Given the description of an element on the screen output the (x, y) to click on. 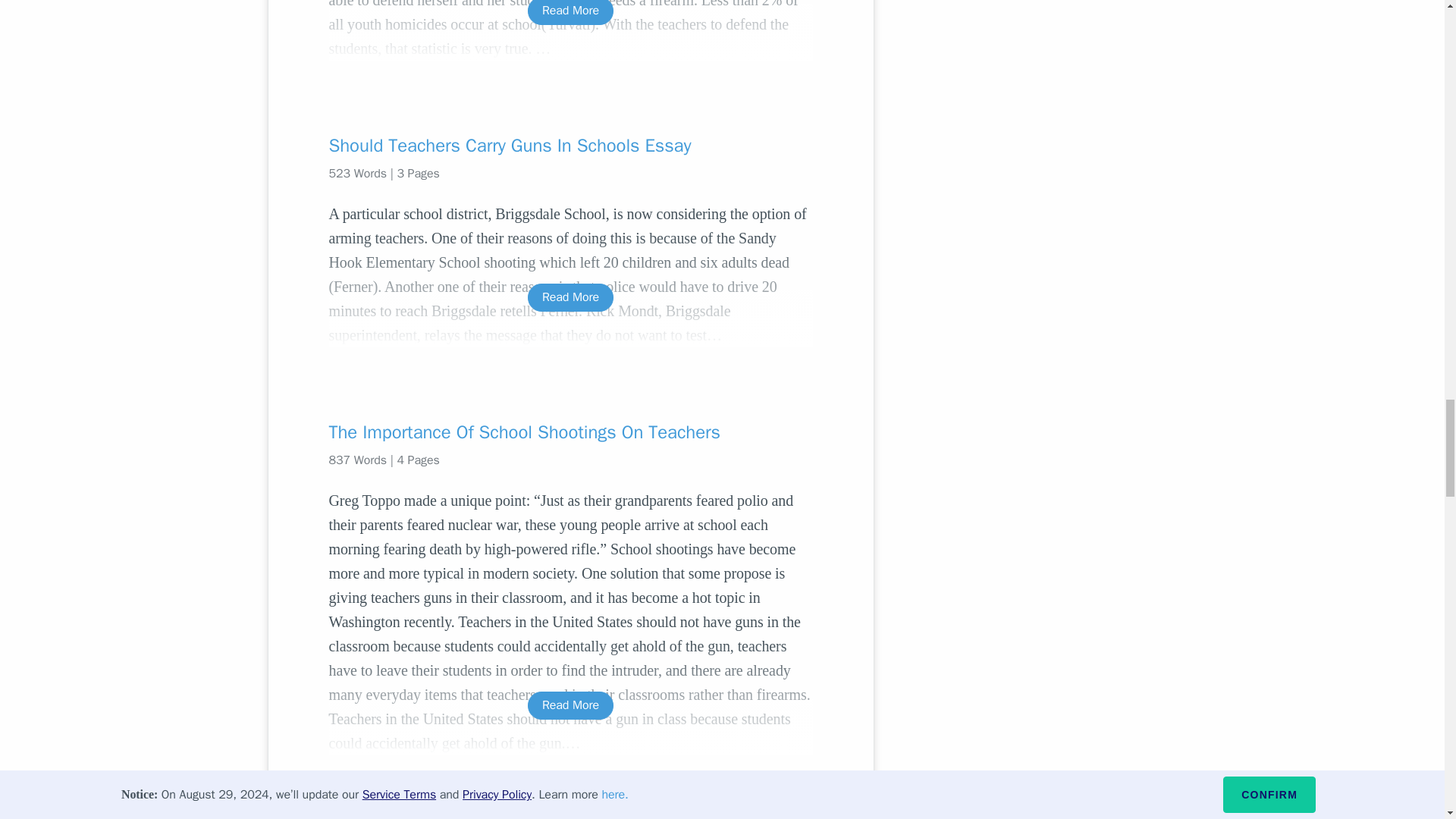
The Importance Of School Shootings On Teachers (570, 432)
Read More (569, 297)
Read More (569, 12)
Should Teachers Carry Guns In Schools Essay (570, 145)
Read More (569, 705)
